Given the description of an element on the screen output the (x, y) to click on. 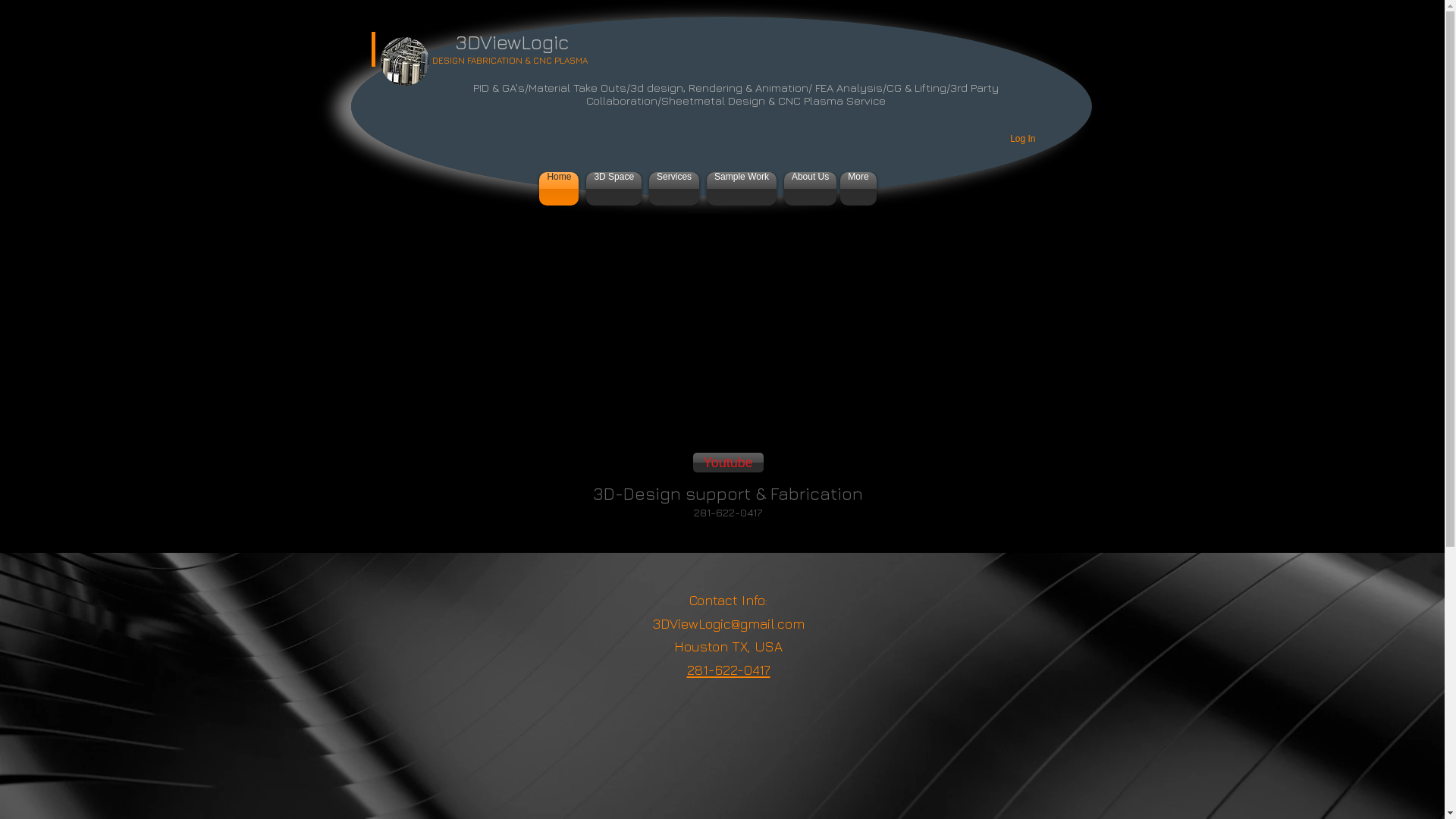
281-622-0417 Element type: text (728, 667)
Youtube Element type: text (728, 462)
Home Element type: text (560, 188)
About Us Element type: text (808, 188)
DESIGN FABRICATION & CNC PLASMA Element type: text (509, 56)
Log In Element type: text (1022, 139)
Services Element type: text (673, 188)
3DViewLogic@gmail.com Element type: text (727, 623)
Sample Work Element type: text (741, 188)
3D Space Element type: text (613, 188)
